Given the description of an element on the screen output the (x, y) to click on. 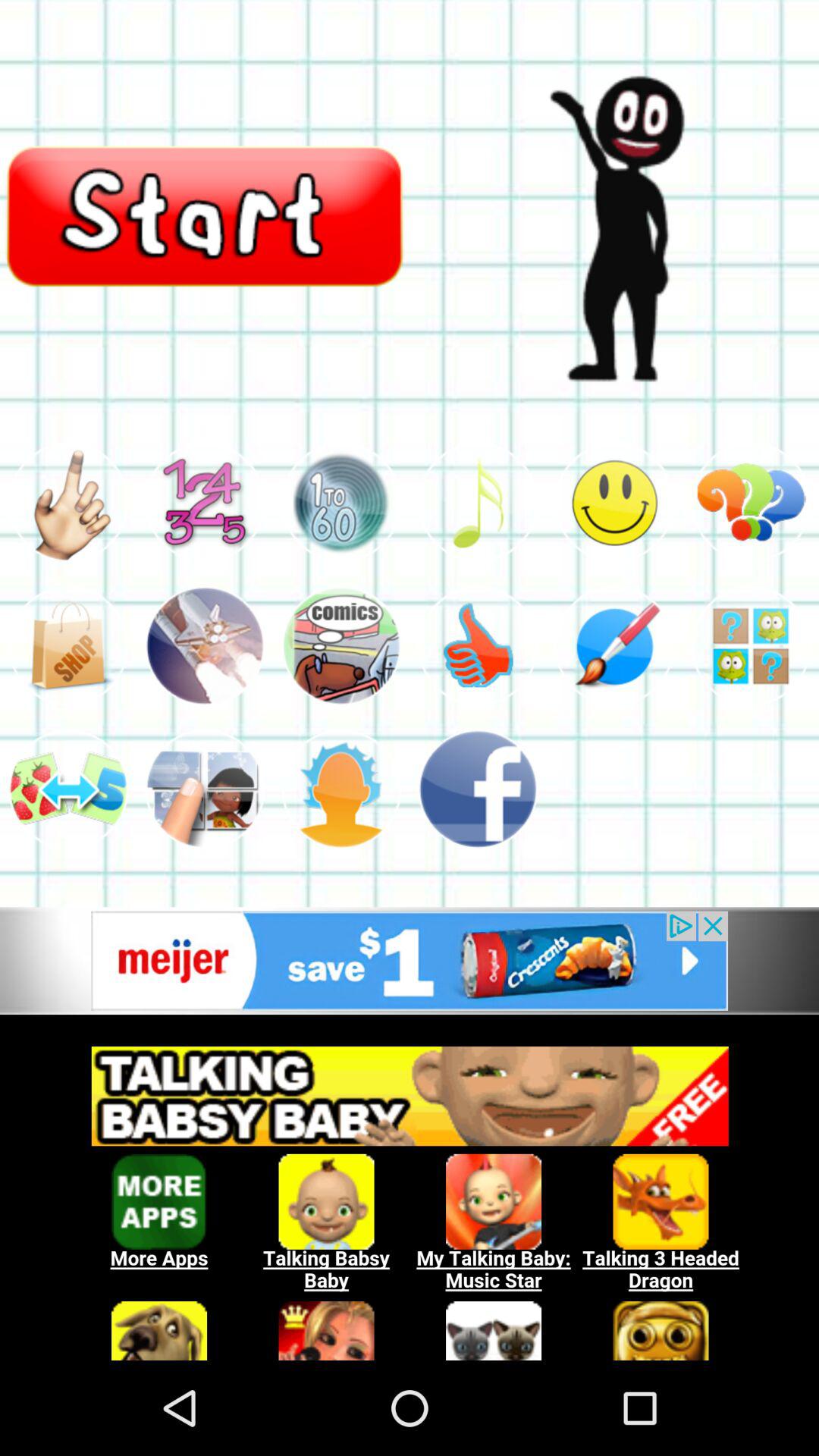
open game (750, 645)
